Given the description of an element on the screen output the (x, y) to click on. 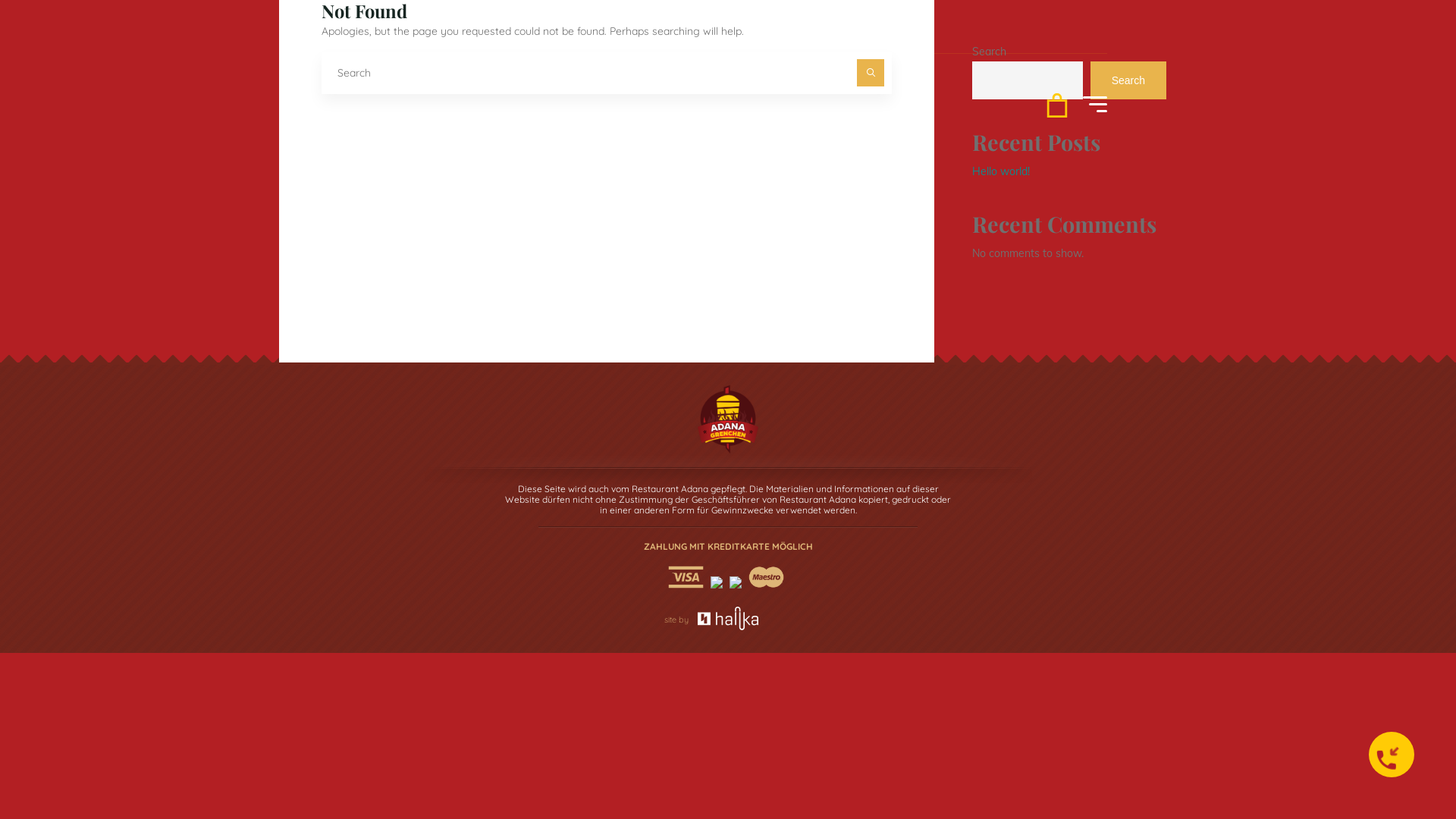
032 652 07 37 Element type: text (409, 107)
Hello world! Element type: text (1000, 171)
Search Element type: text (870, 72)
Search Element type: text (1128, 80)
